Given the description of an element on the screen output the (x, y) to click on. 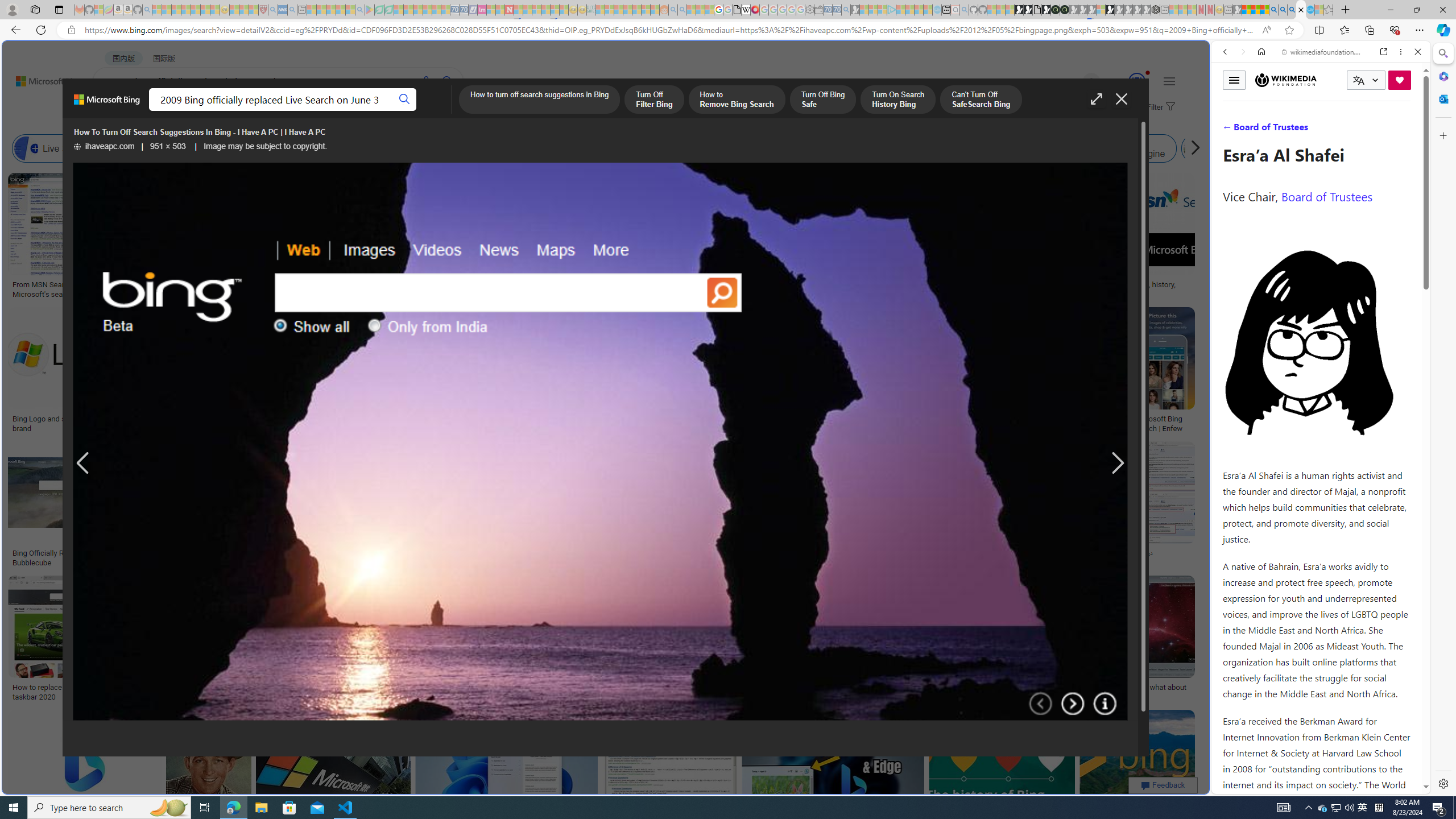
Bing AI - Search (1272, 9)
Eugene (1074, 81)
Search button (404, 99)
DICT (407, 111)
WEB   (1230, 130)
Settings and quick links (1168, 80)
Bing Logo and symbol, meaning, history, PNG, brand (97, 423)
